Given the description of an element on the screen output the (x, y) to click on. 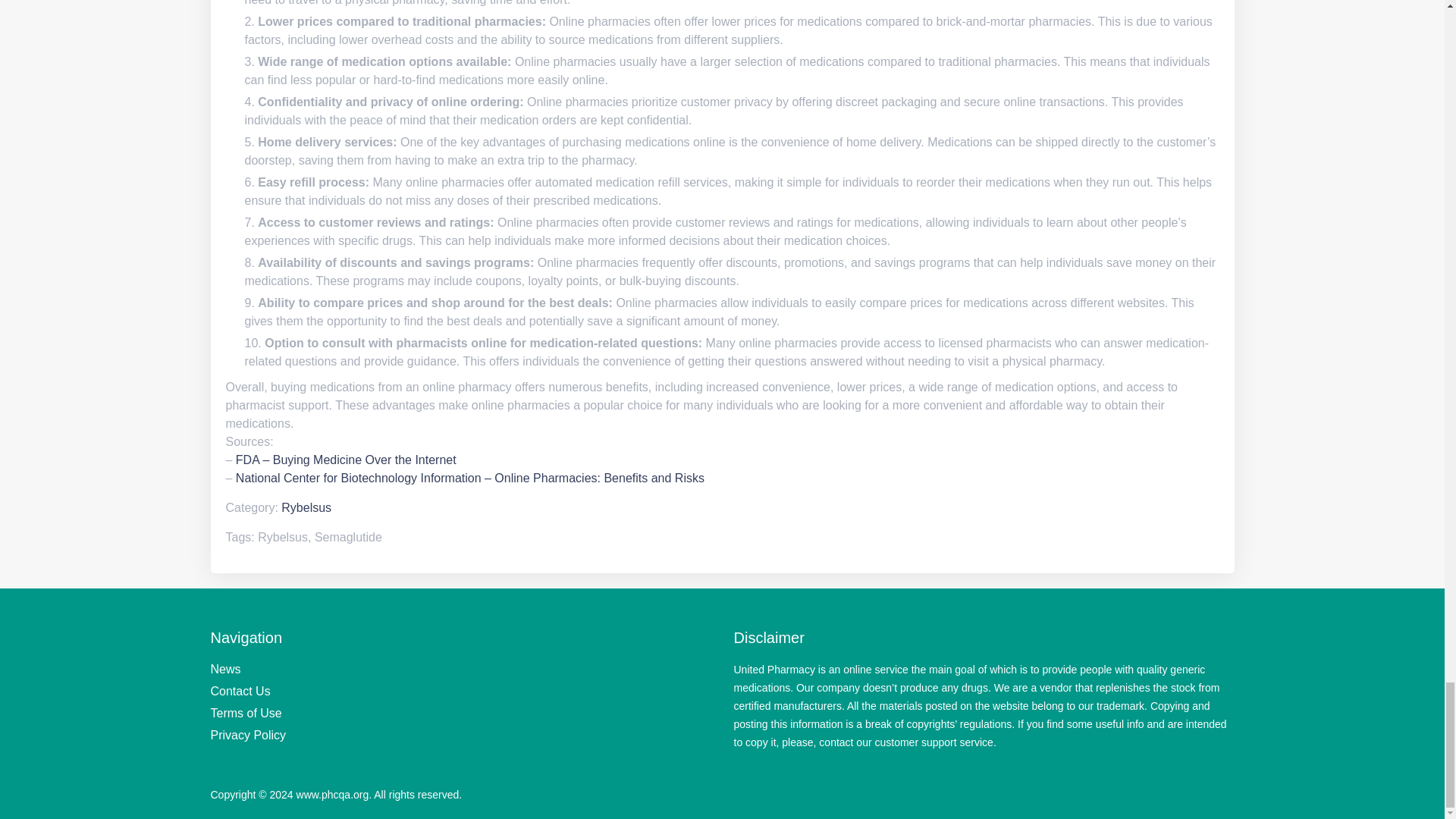
Contact Us (240, 690)
Terms of Use (246, 712)
Rybelsus (306, 507)
News (226, 668)
Privacy Policy (248, 735)
